Given the description of an element on the screen output the (x, y) to click on. 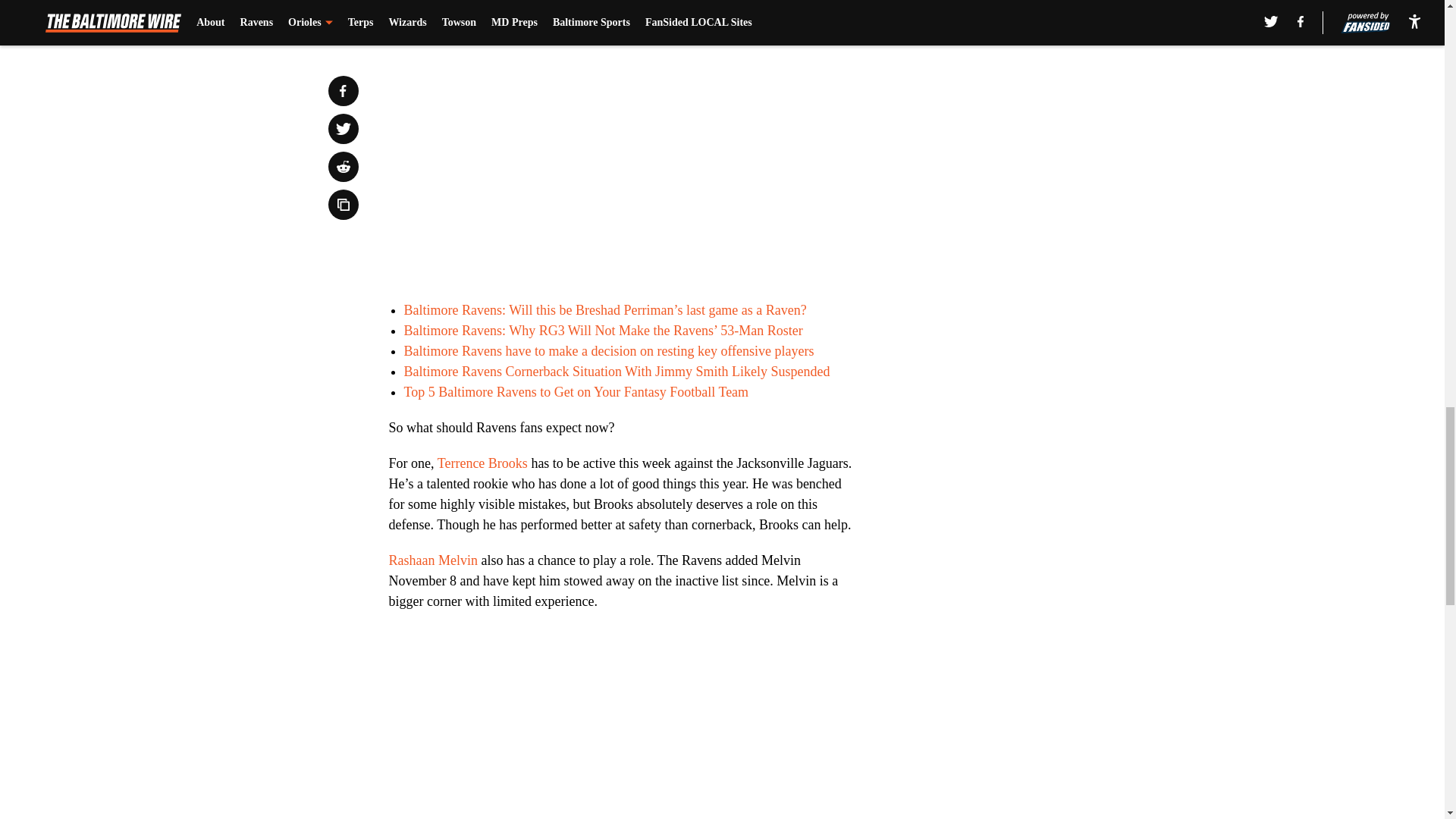
Top 5 Baltimore Ravens to Get on Your Fantasy Football Team (575, 391)
Rashaan Melvin (432, 560)
Terrence Brooks (482, 462)
